Given the description of an element on the screen output the (x, y) to click on. 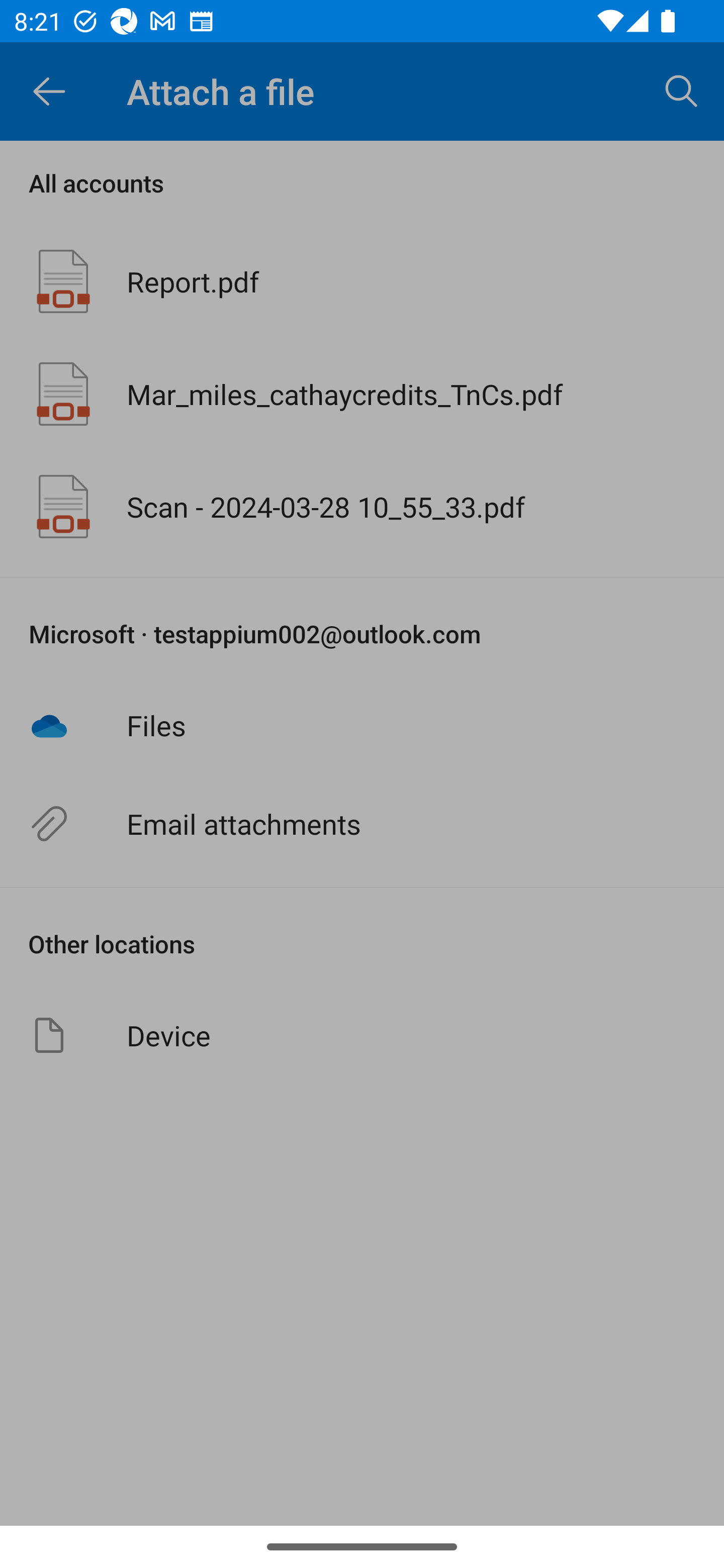
Navigate up (49, 91)
Search button (681, 90)
Report.pdf (362, 281)
Mar_miles_cathaycredits_TnCs.pdf (362, 393)
Scan - 2024-03-28 10_55_33.pdf (362, 506)
Files (362, 724)
Email attachments (362, 823)
Device (362, 1035)
